Given the description of an element on the screen output the (x, y) to click on. 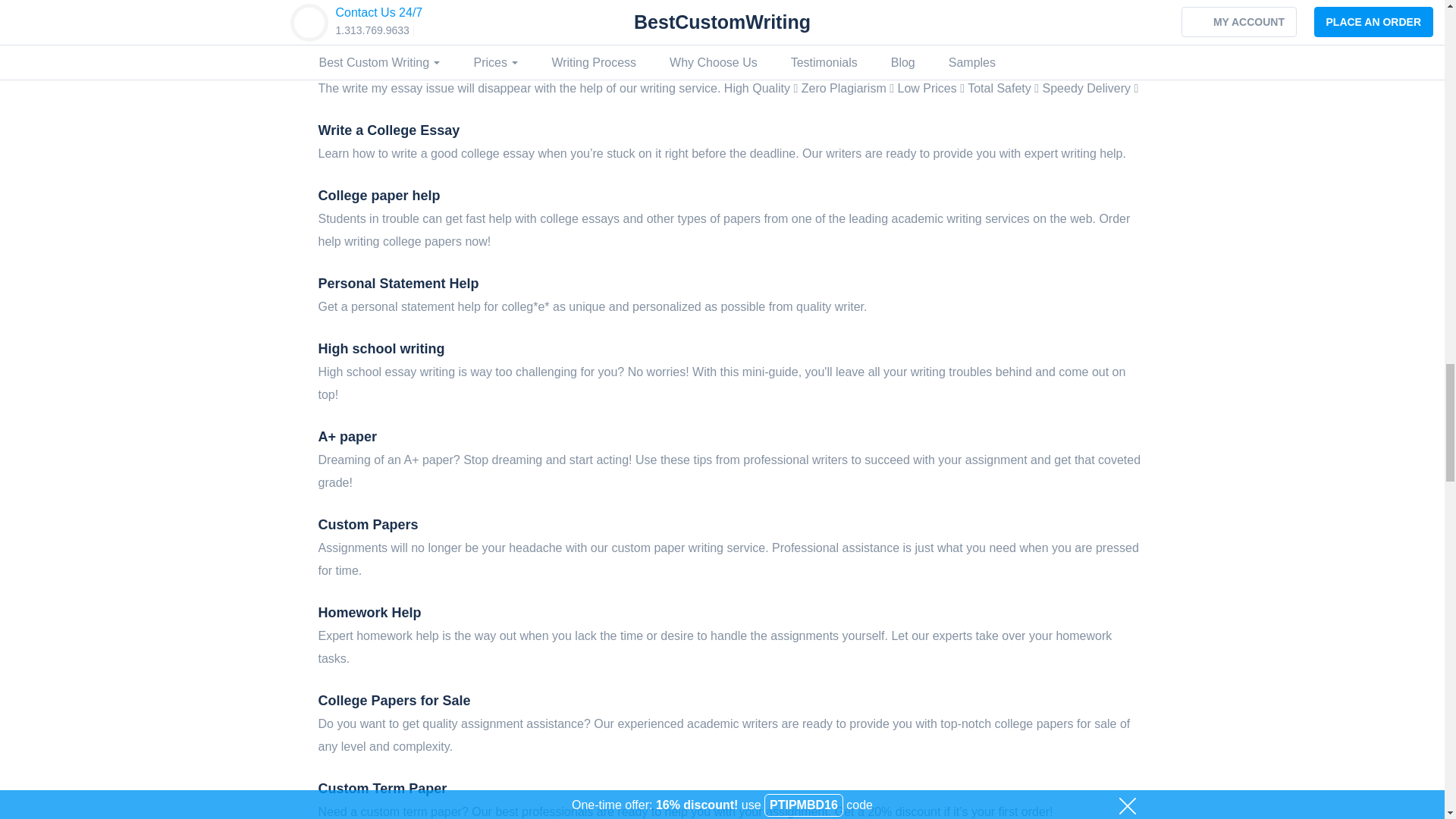
College paper help (379, 195)
Write My Essay (368, 64)
Write a College Essay (389, 130)
Personal Statement Help (398, 283)
